Given the description of an element on the screen output the (x, y) to click on. 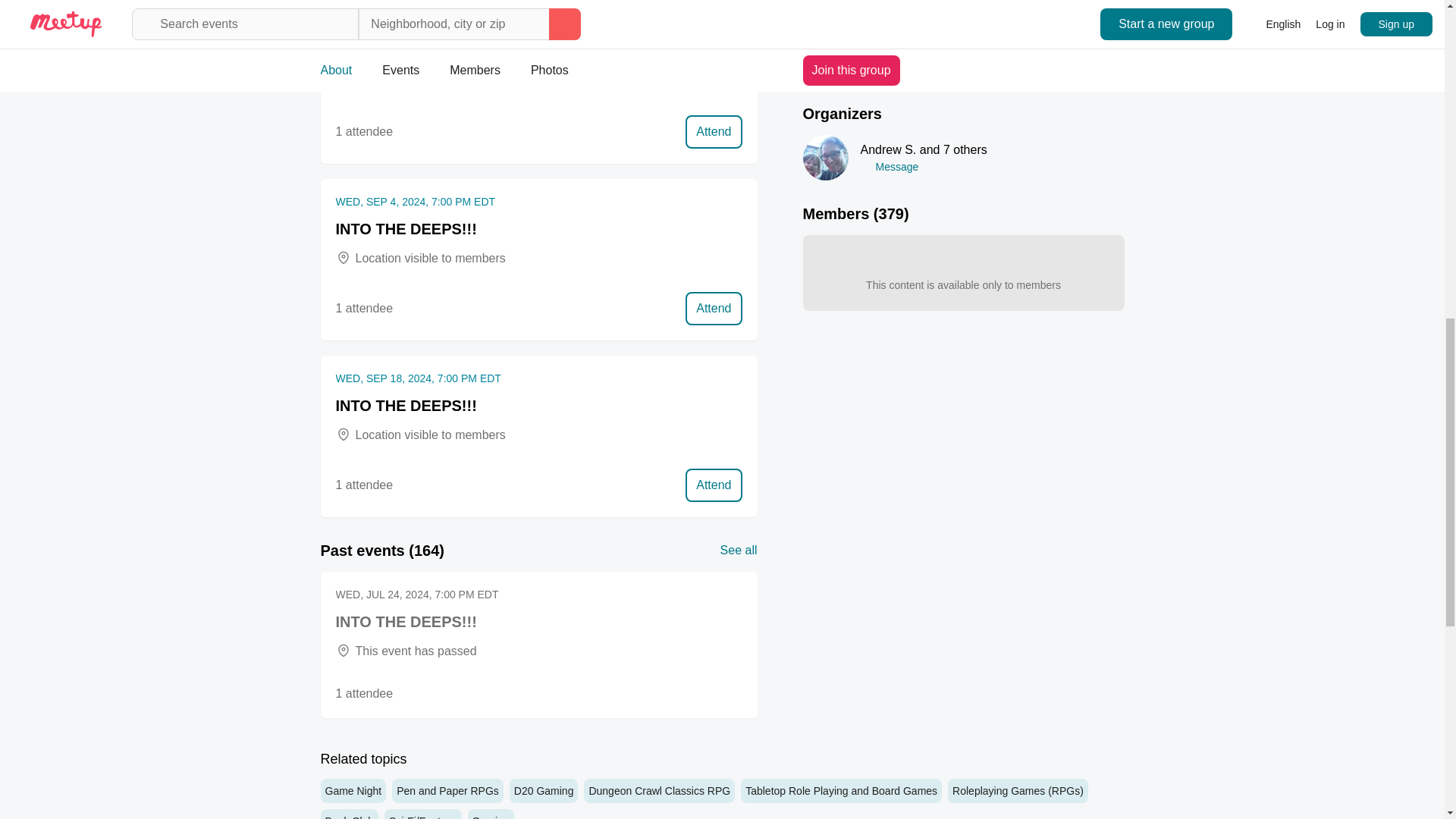
Attend (713, 308)
See all (738, 550)
Attend (713, 131)
Attend (713, 485)
